Given the description of an element on the screen output the (x, y) to click on. 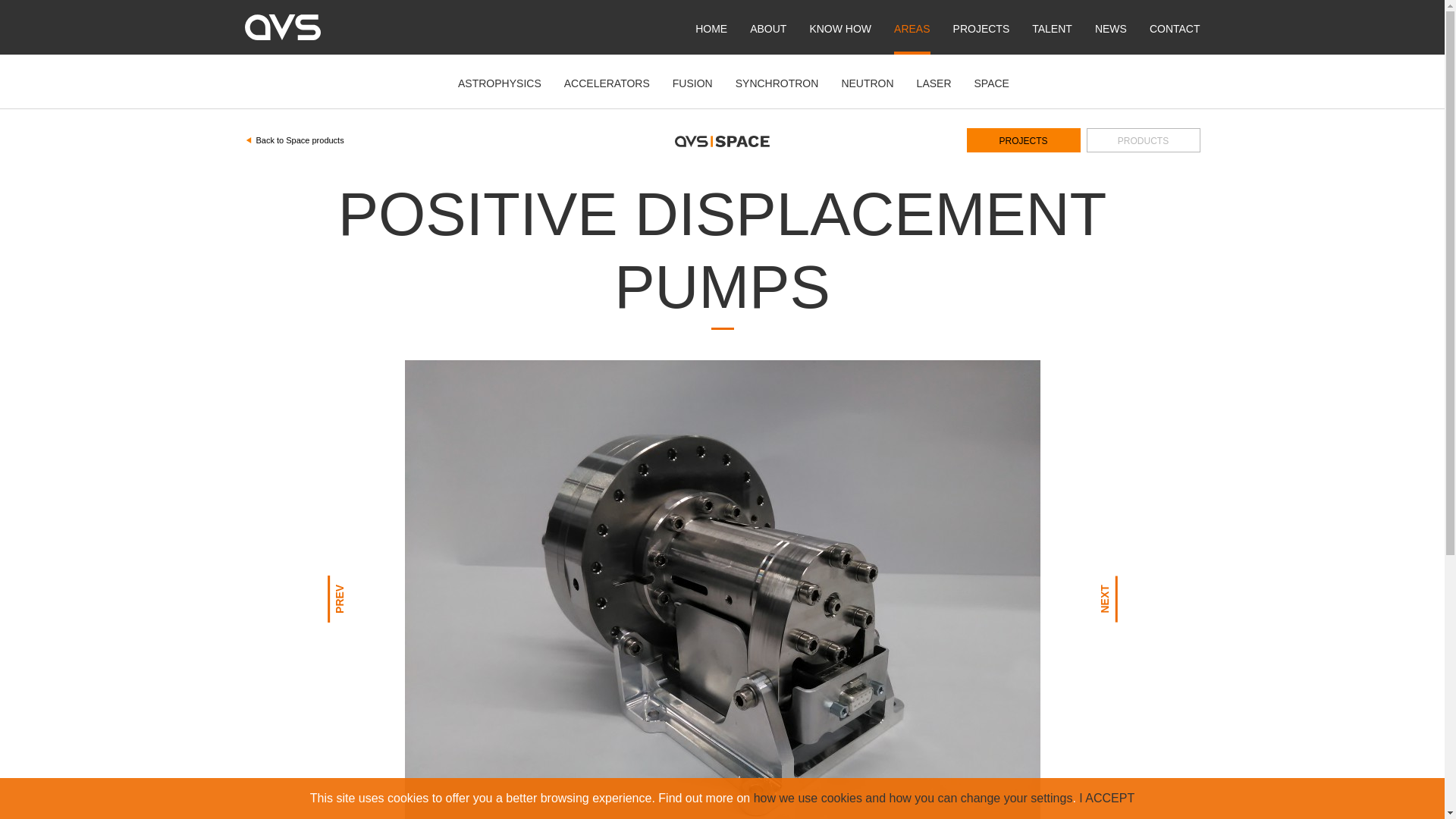
Neutron (867, 81)
Synchrotron (776, 81)
NEUTRON (867, 81)
Projects (981, 27)
KNOW HOW (839, 27)
Accelerators (606, 81)
Contact (1174, 27)
SYNCHROTRON (776, 81)
Astrophysics (499, 81)
ASTROPHYSICS (499, 81)
